Given the description of an element on the screen output the (x, y) to click on. 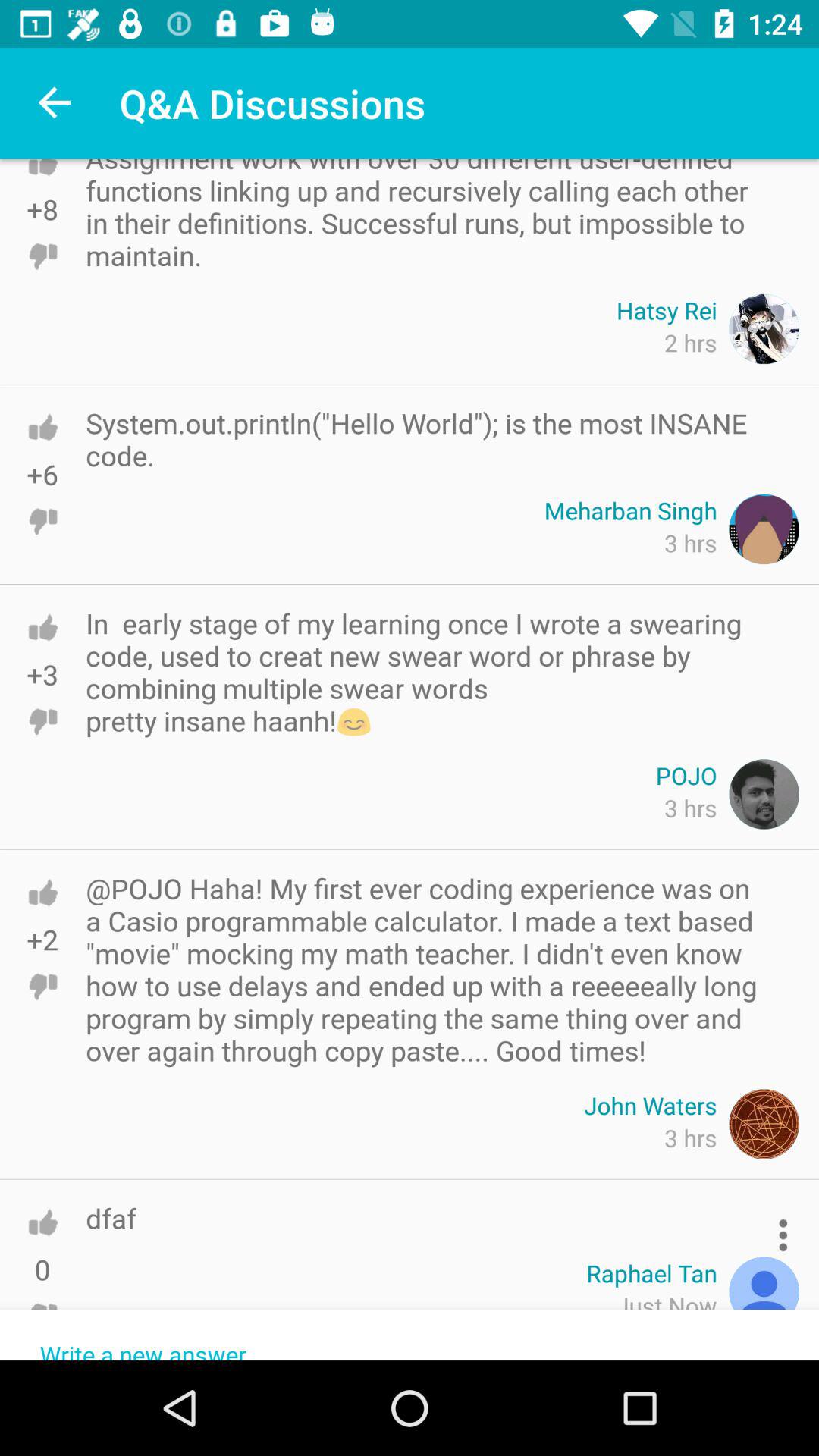
select thumbs down (42, 1316)
